Given the description of an element on the screen output the (x, y) to click on. 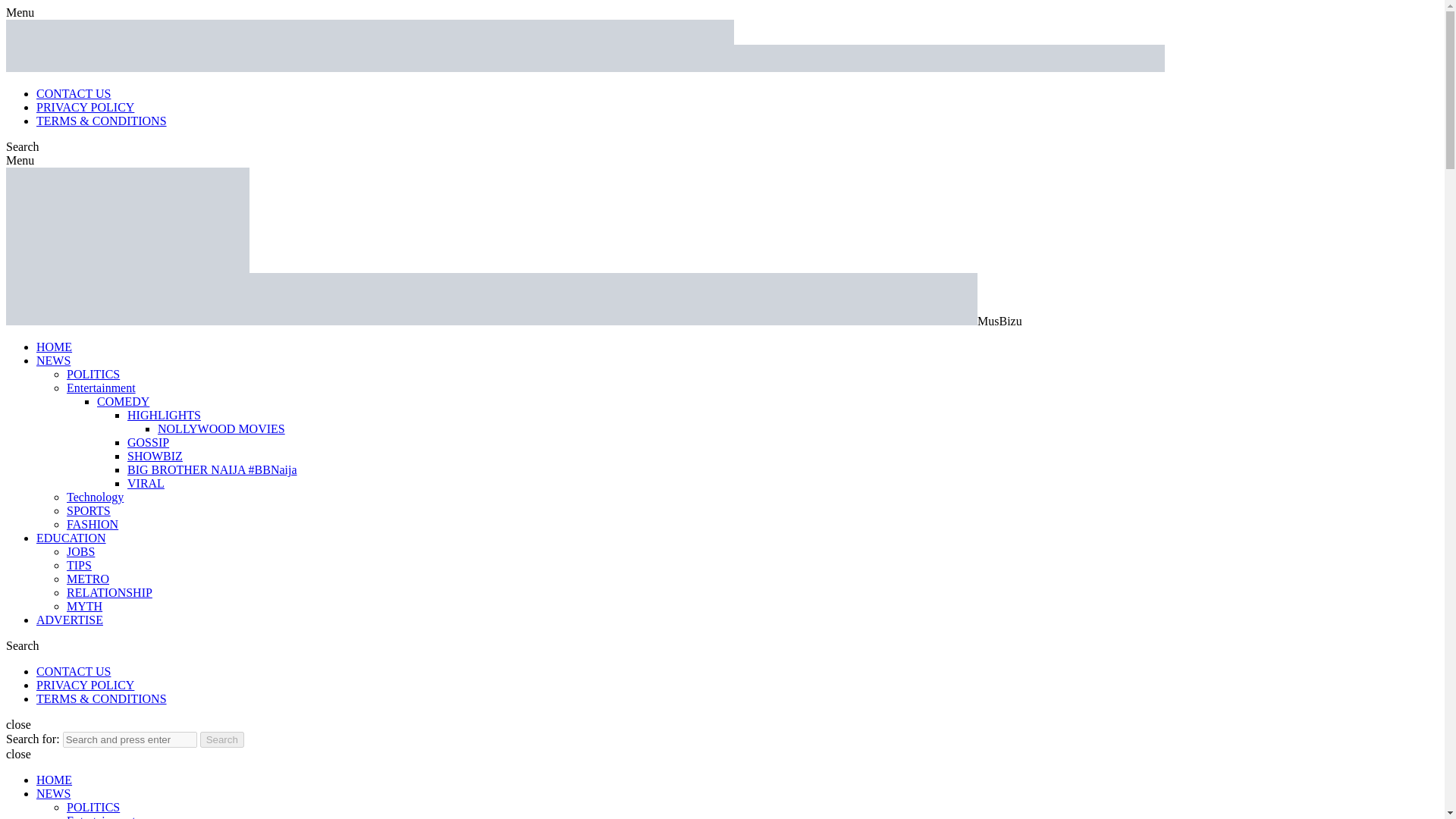
Entertainment (100, 387)
SPORTS (88, 510)
PRIVACY POLICY (84, 106)
RELATIONSHIP (109, 592)
PRIVACY POLICY (84, 684)
NEWS (52, 359)
TIPS (78, 564)
NOLLYWOOD MOVIES (221, 428)
HOME (53, 346)
MYTH (83, 605)
Entertainment (100, 816)
COMEDY (123, 400)
POLITICS (92, 807)
CONTACT US (73, 671)
HIGHLIGHTS (164, 414)
